Given the description of an element on the screen output the (x, y) to click on. 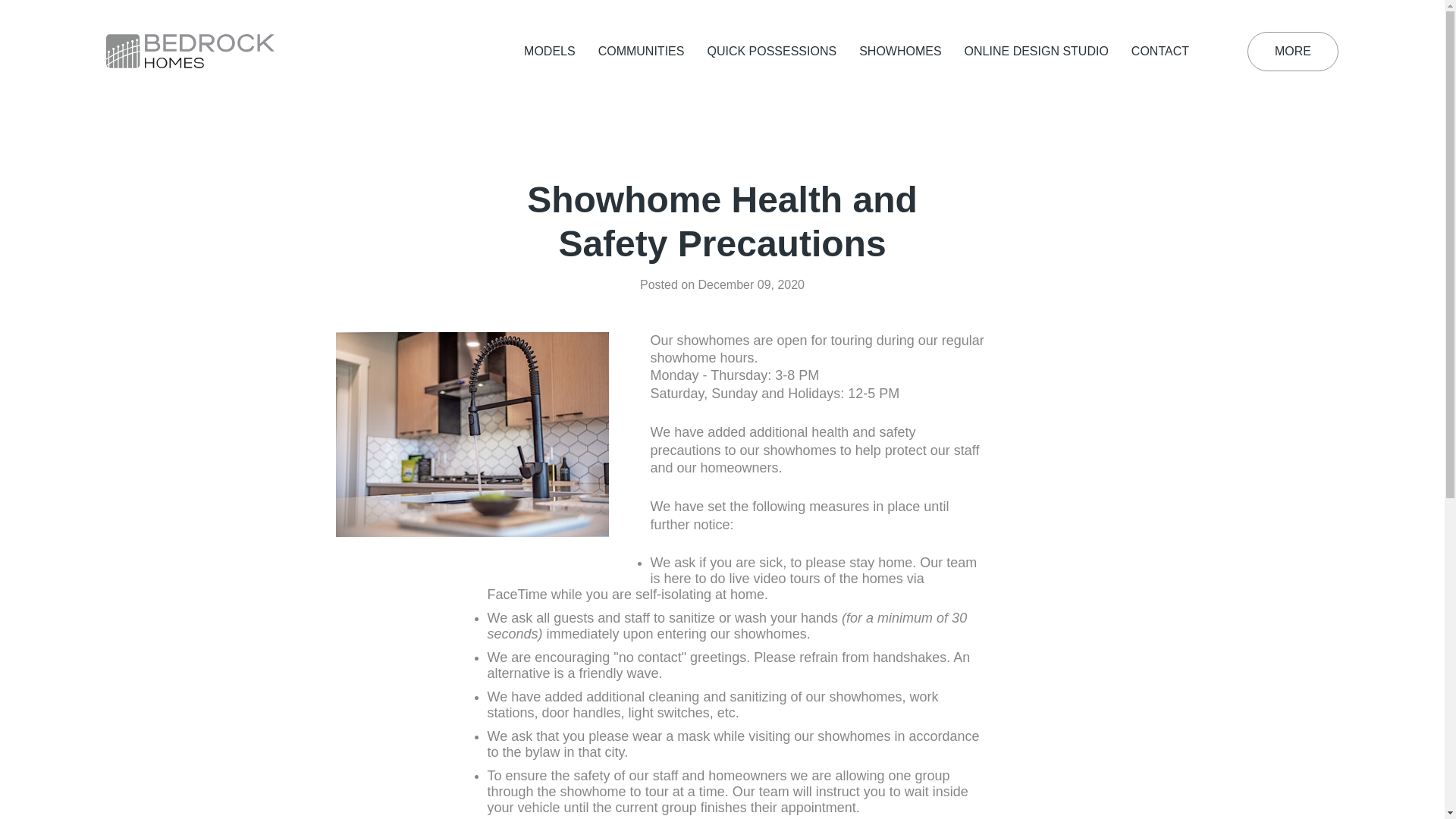
QUICK POSSESSIONS Element type: text (771, 51)
Bedrock Homes Element type: hover (190, 51)
CONTACT Element type: text (1160, 51)
COMMUNITIES Element type: text (641, 51)
MORE Element type: text (1292, 51)
Search Element type: text (1217, 50)
SHOWHOMES Element type: text (900, 51)
ONLINE DESIGN STUDIO Element type: text (1036, 51)
MODELS Element type: text (549, 51)
